Given the description of an element on the screen output the (x, y) to click on. 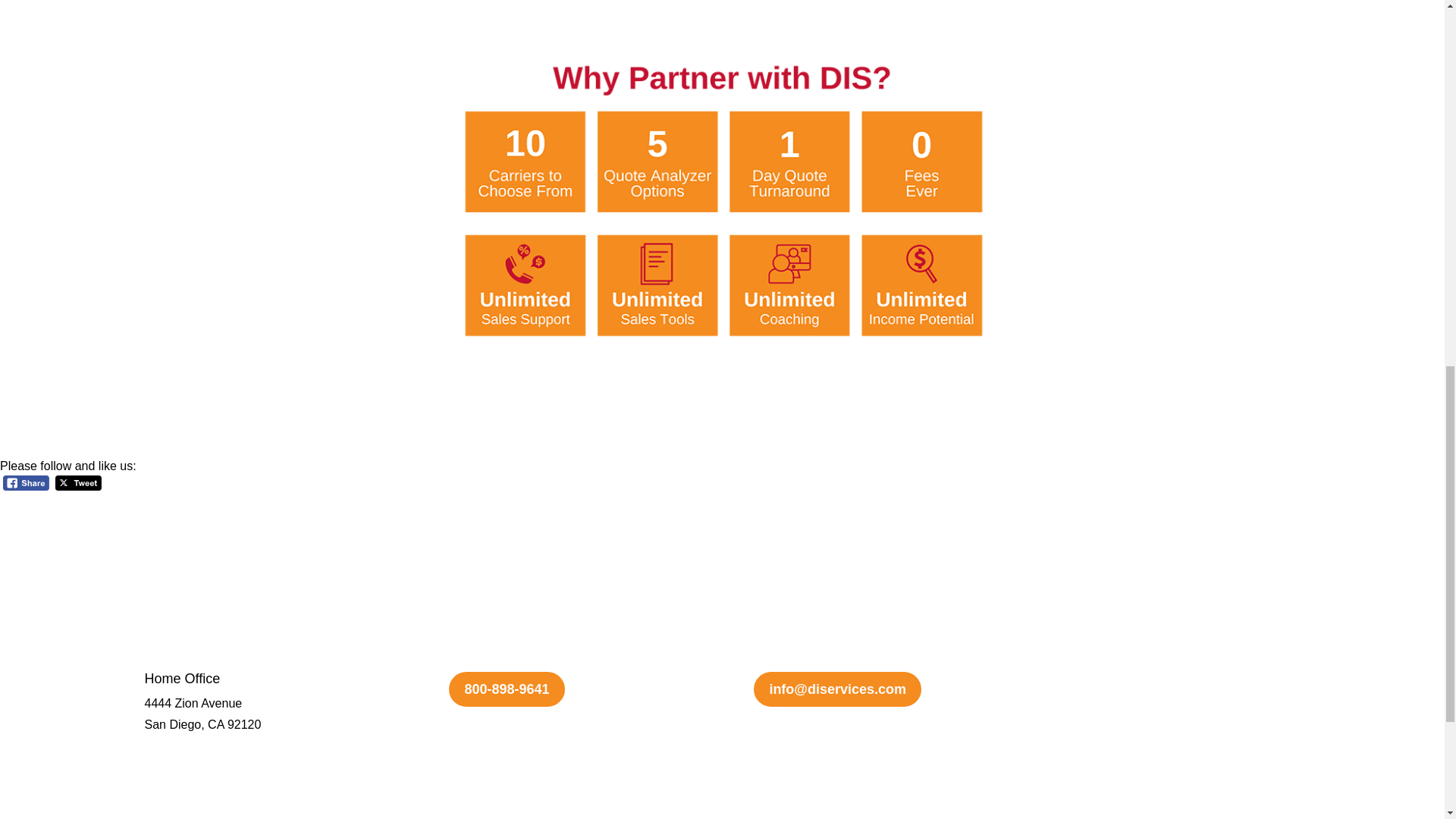
Follow on Youtube (1125, 683)
Facebook Share (25, 483)
800-898-9641 (506, 688)
Follow on X (1094, 683)
Tweet (78, 483)
Follow on LinkedIn (1154, 683)
